Given the description of an element on the screen output the (x, y) to click on. 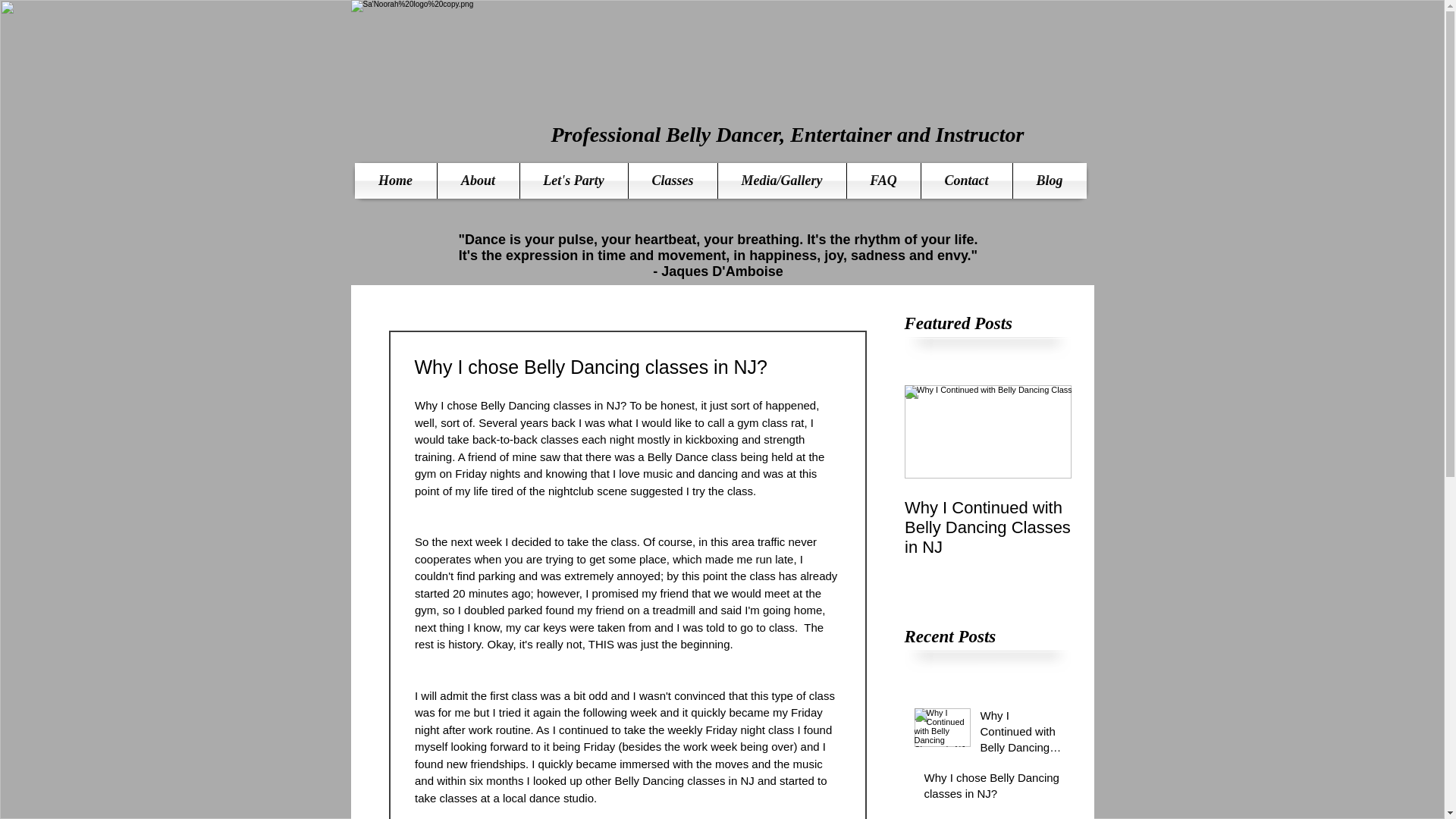
Blog (1049, 180)
Sa'Noorah logo copy.png (529, 90)
Why I chose Belly Dancing classes in NJ? (992, 788)
Why I Continued with Belly Dancing Classes in NJ (987, 527)
Let's Party (573, 180)
Home (395, 180)
About (477, 180)
Why I Continued with Belly Dancing Classes in NJ (1020, 734)
FAQ (882, 180)
Contact (965, 180)
Classes (671, 180)
